Given the description of an element on the screen output the (x, y) to click on. 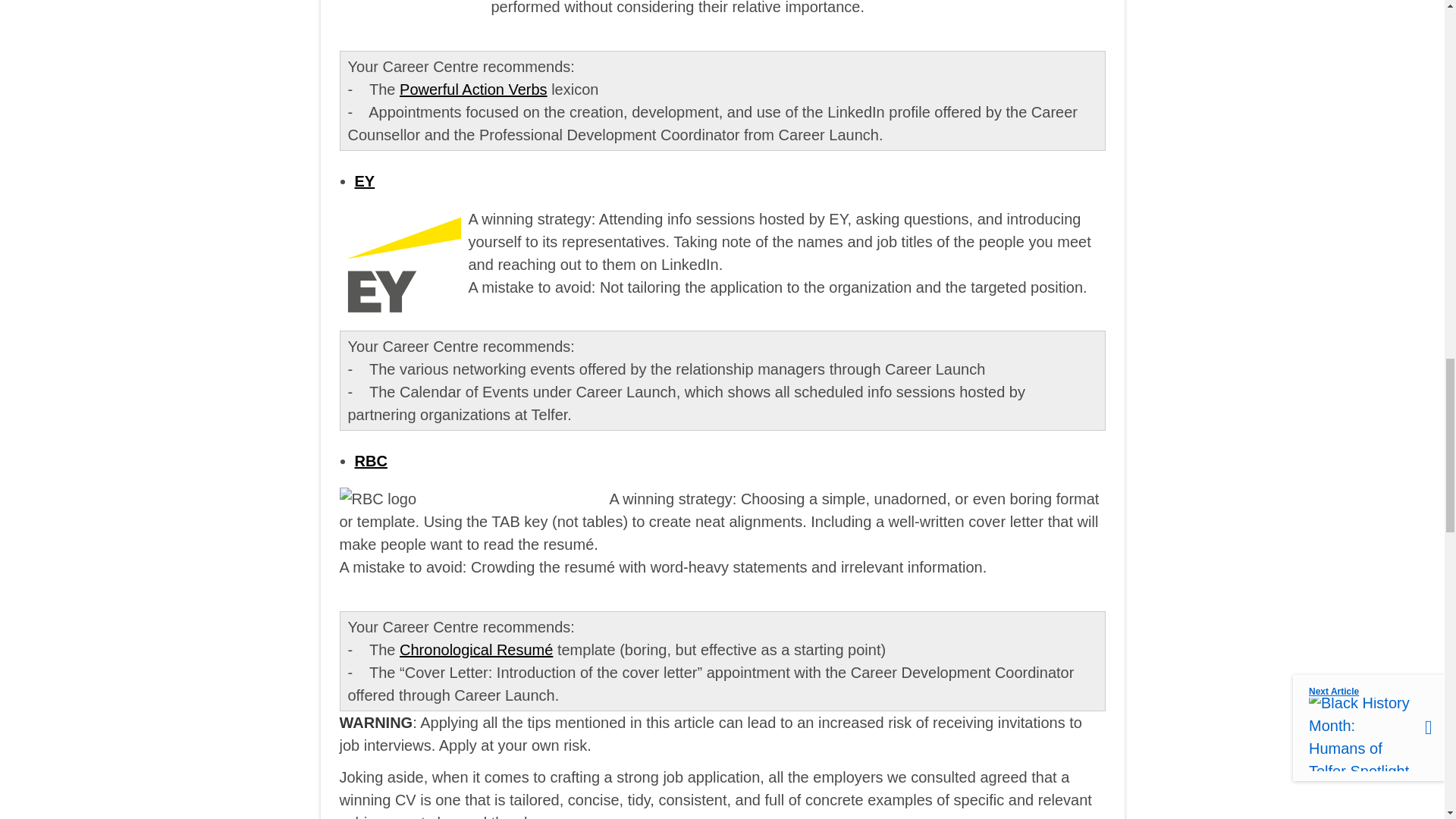
Powerful Action Verbs (472, 88)
RBC (371, 460)
EY (365, 180)
